Given the description of an element on the screen output the (x, y) to click on. 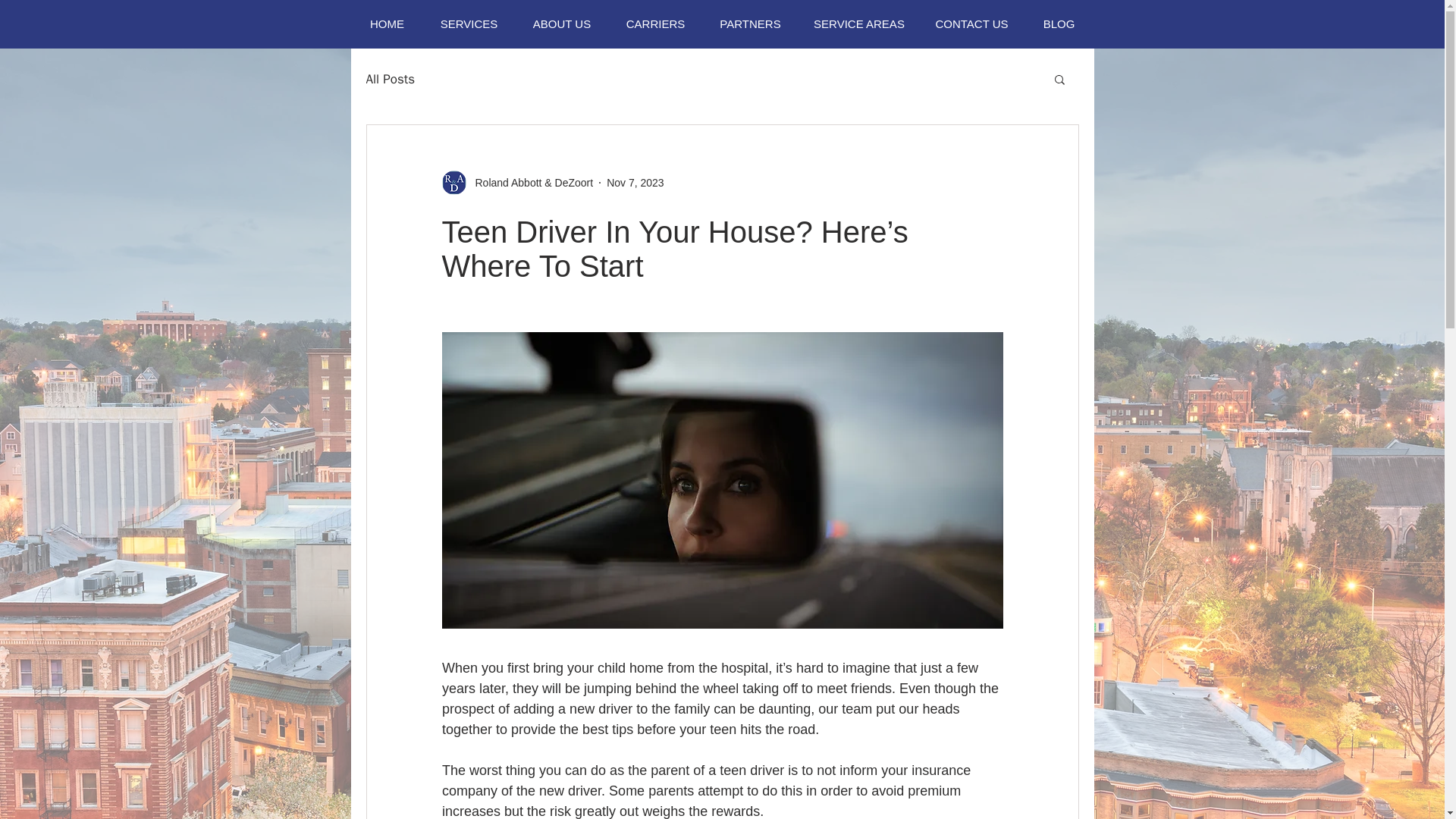
SERVICES (468, 24)
CONTACT US (970, 24)
PARTNERS (750, 24)
Nov 7, 2023 (635, 182)
SERVICE AREAS (859, 24)
HOME (386, 24)
ABOUT US (560, 24)
All Posts (389, 77)
BLOG (1058, 24)
CARRIERS (655, 24)
